Given the description of an element on the screen output the (x, y) to click on. 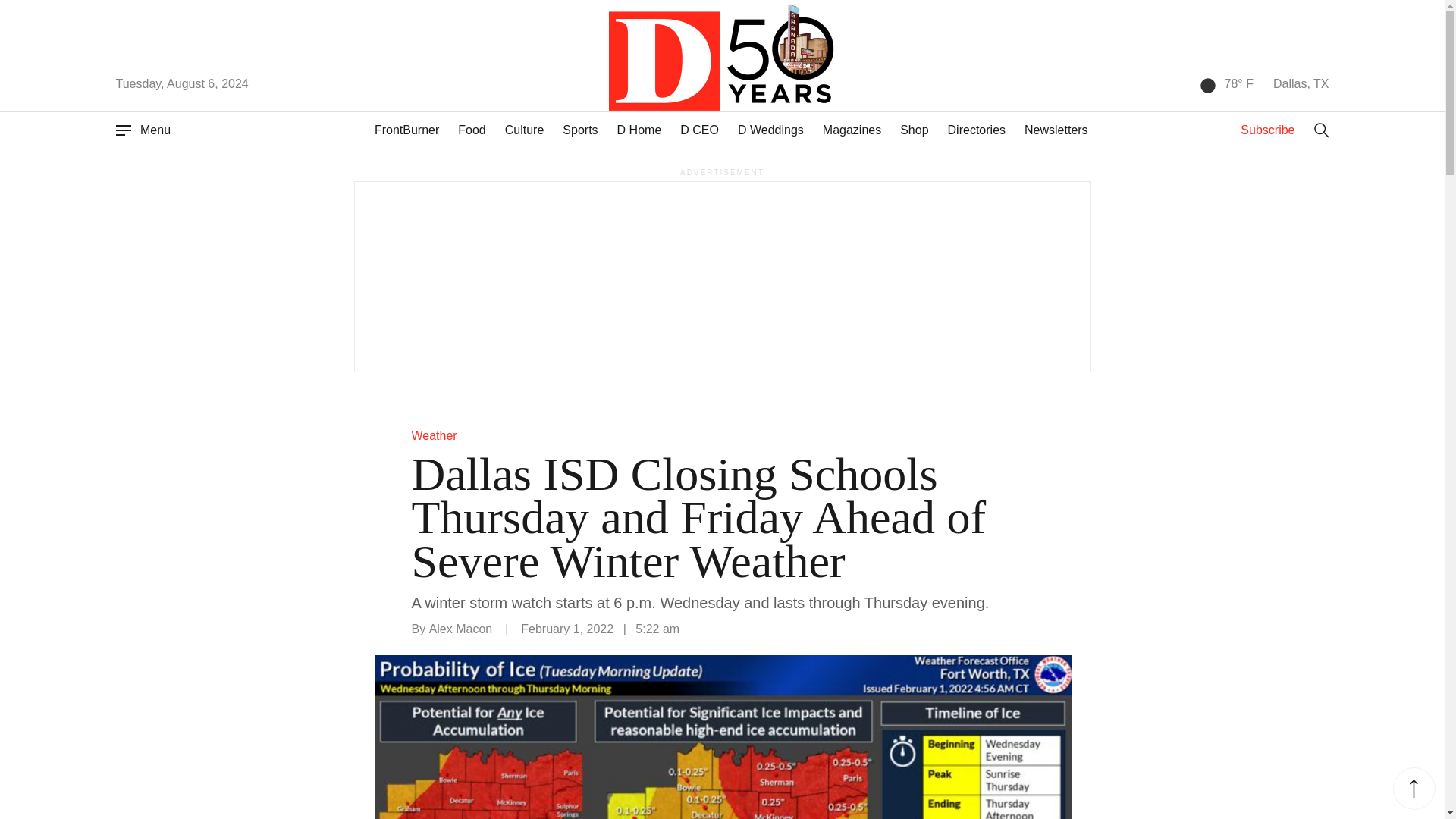
Magazines (851, 130)
Food (471, 130)
D Magazine 50th Anniversary Article (773, 55)
D CEO (699, 130)
Sports (579, 130)
Shop (913, 130)
Newsletters (1056, 130)
Directories (976, 130)
D Weddings (770, 130)
Culture (524, 130)
Subscribe (1267, 129)
D Home (639, 130)
FrontBurner (406, 130)
